Given the description of an element on the screen output the (x, y) to click on. 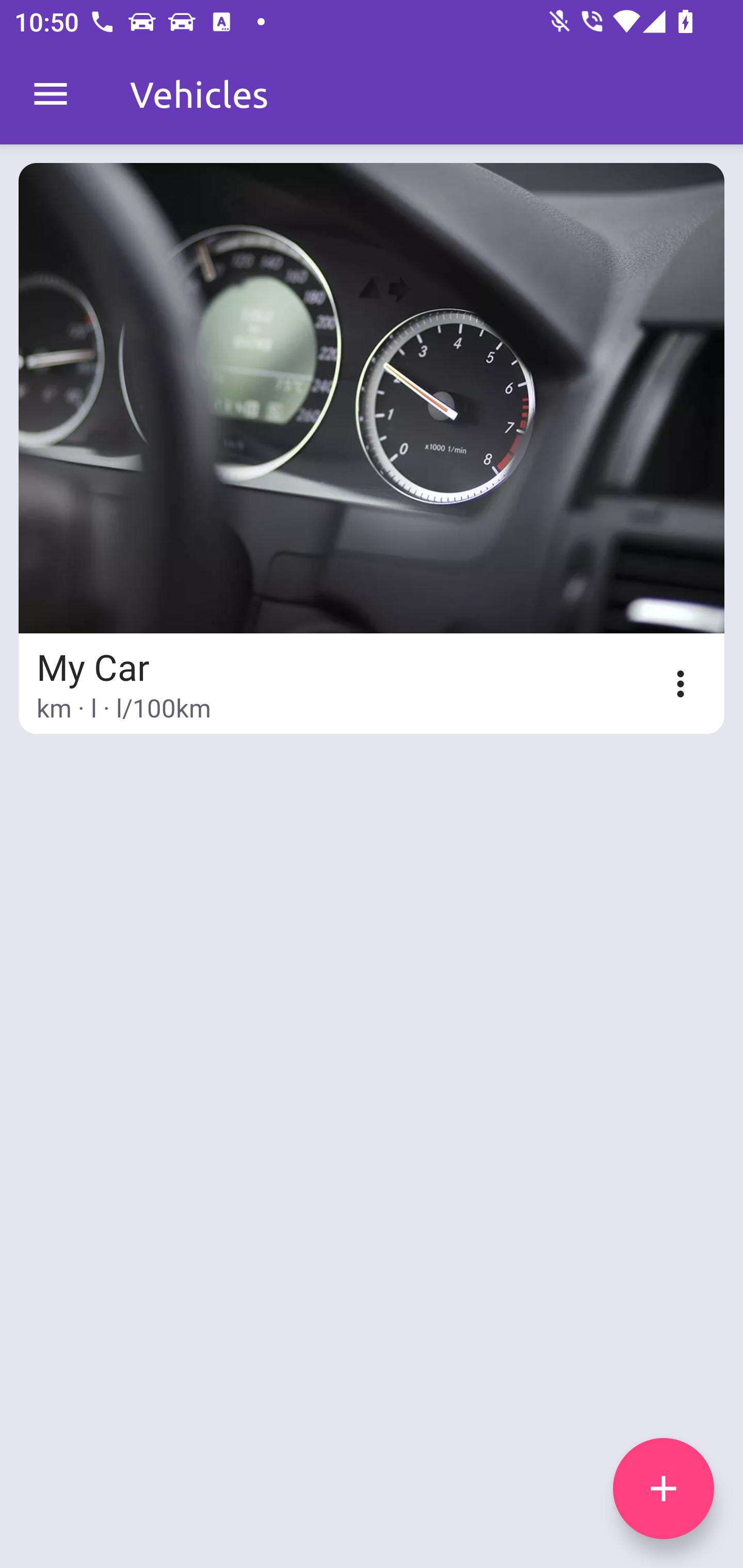
MenuDrawer (50, 93)
My Car km · l · l/100km (371, 448)
add icon (663, 1488)
